Given the description of an element on the screen output the (x, y) to click on. 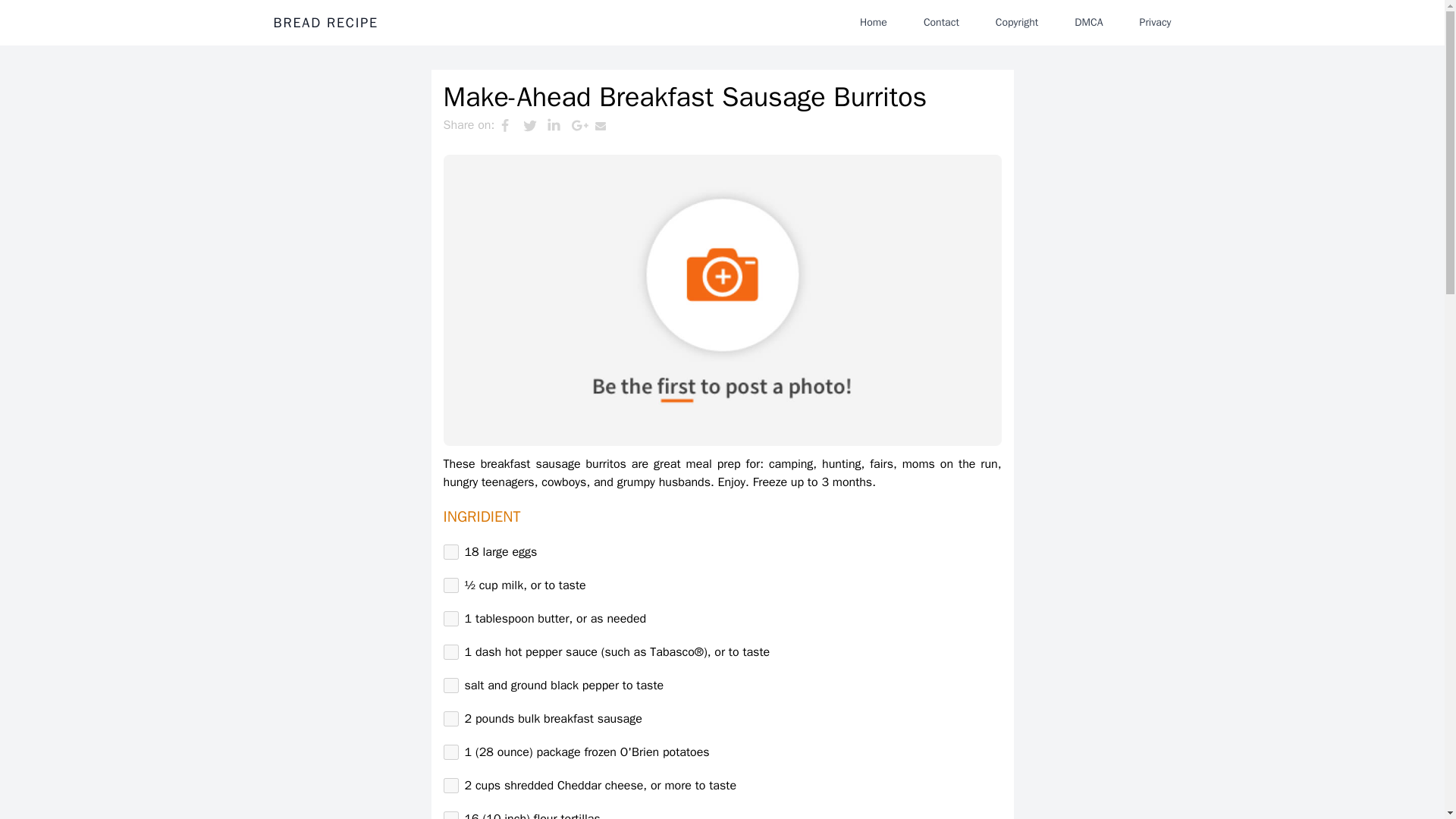
BREAD RECIPE (325, 22)
on (450, 752)
Share this on Linkedin (558, 125)
on (450, 718)
Contact (941, 22)
Copyright (1016, 22)
DMCA (1088, 22)
Share this through Email (607, 125)
on (450, 685)
on (450, 618)
Privacy (1154, 22)
on (450, 585)
on (450, 815)
on (450, 652)
Share this on Twitter (534, 125)
